Given the description of an element on the screen output the (x, y) to click on. 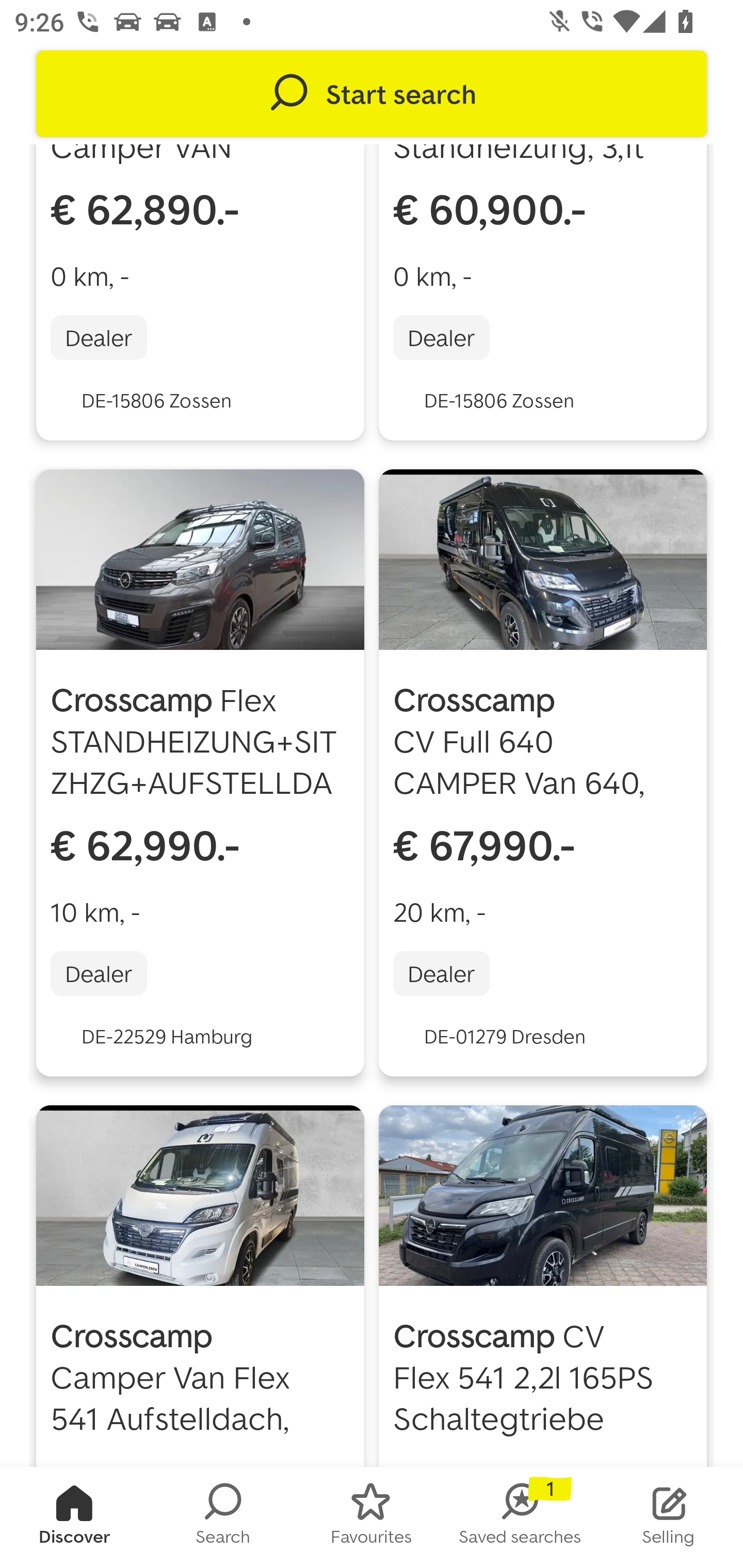
Start search (371, 93)
HOMESCREEN Discover (74, 1517)
SEARCH Search (222, 1517)
FAVORITES Favourites (371, 1517)
SAVED_SEARCHES Saved searches 1 (519, 1517)
STOCK_LIST Selling (668, 1517)
